Given the description of an element on the screen output the (x, y) to click on. 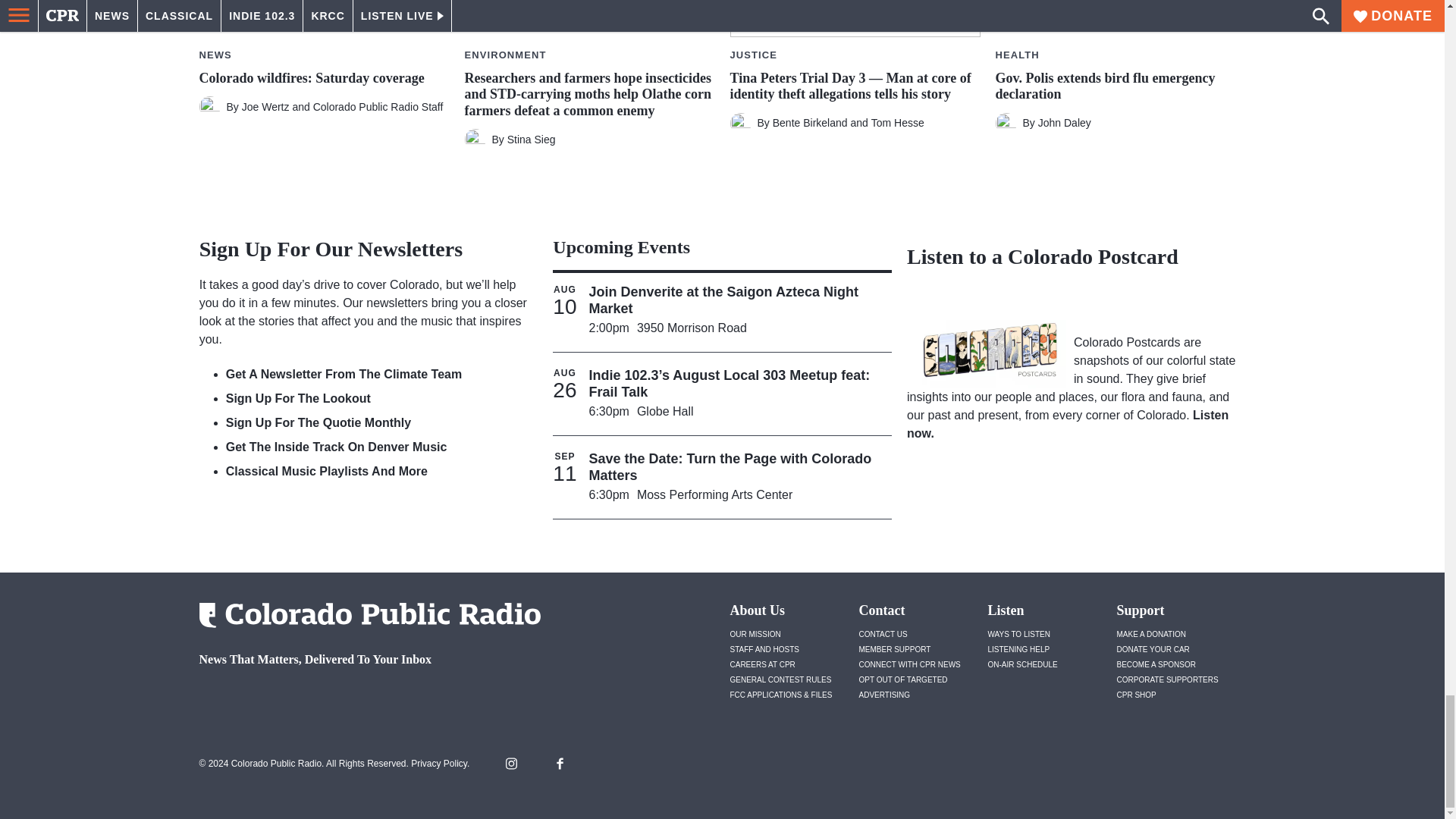
footer (364, 699)
